Given the description of an element on the screen output the (x, y) to click on. 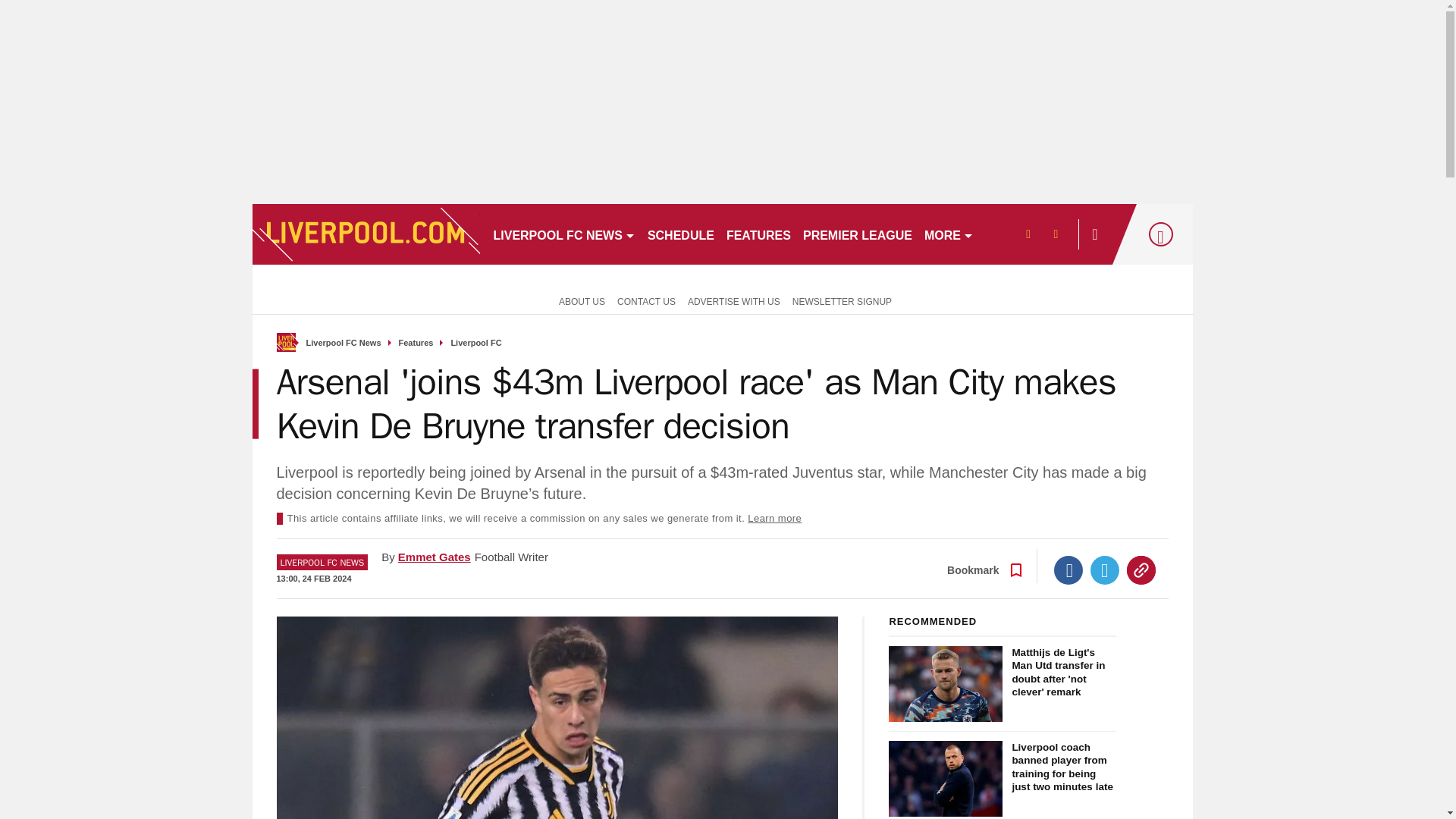
SCHEDULE (681, 233)
Emmet Gates (433, 556)
MORE (948, 233)
CONTACT US (646, 300)
Twitter (1104, 570)
Features (415, 343)
Facebook (1068, 570)
Learn more (775, 518)
Liverpool FC (474, 343)
frontpage (285, 342)
ABOUT US (579, 300)
Liverpool FC News (343, 343)
LIVERPOOL FC NEWS (563, 233)
FEATURES (758, 233)
facebook (1026, 233)
